Given the description of an element on the screen output the (x, y) to click on. 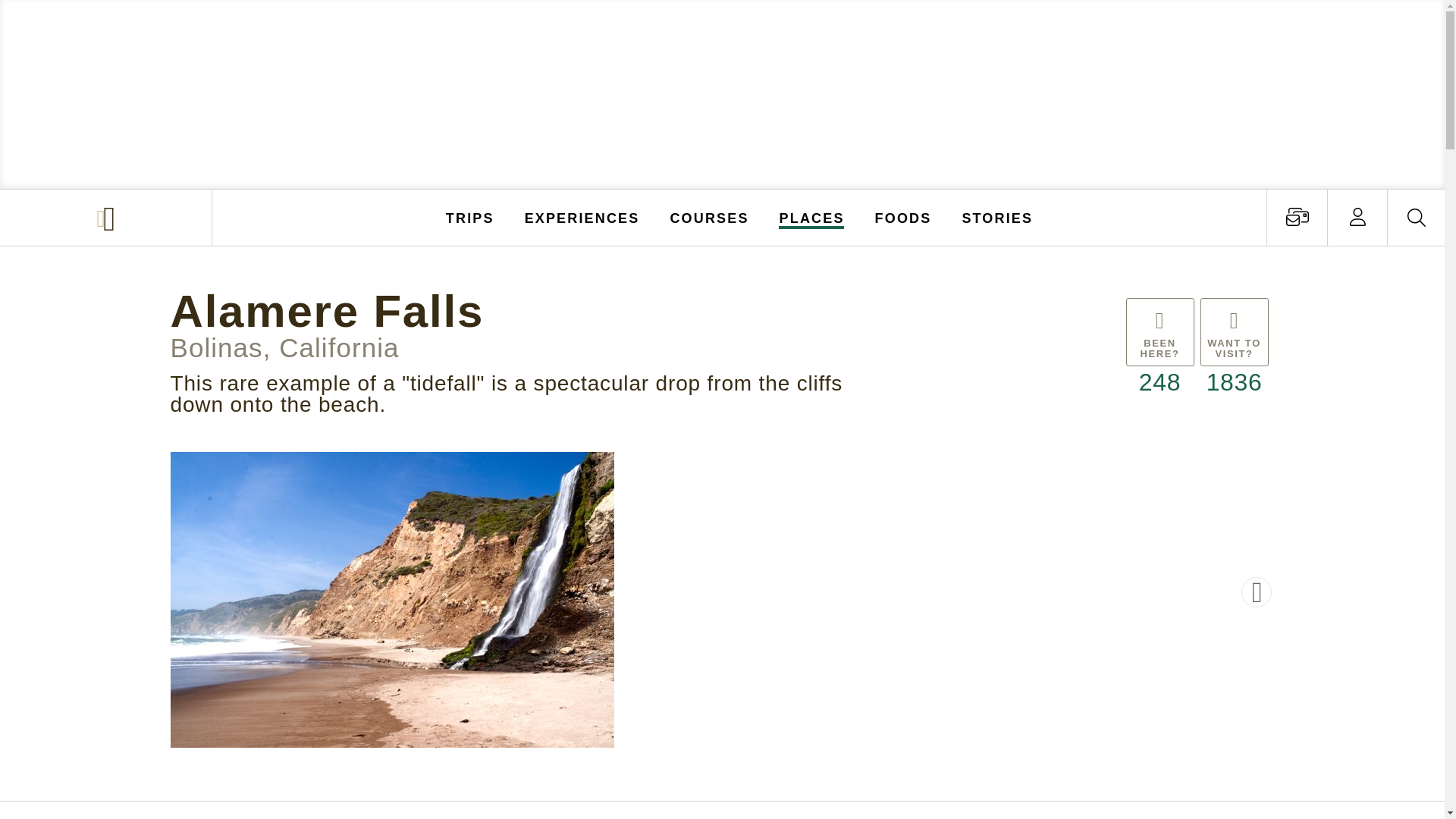
COURSES (707, 217)
EXPERIENCES (582, 217)
TRIPS (469, 217)
PLACES (812, 217)
